Given the description of an element on the screen output the (x, y) to click on. 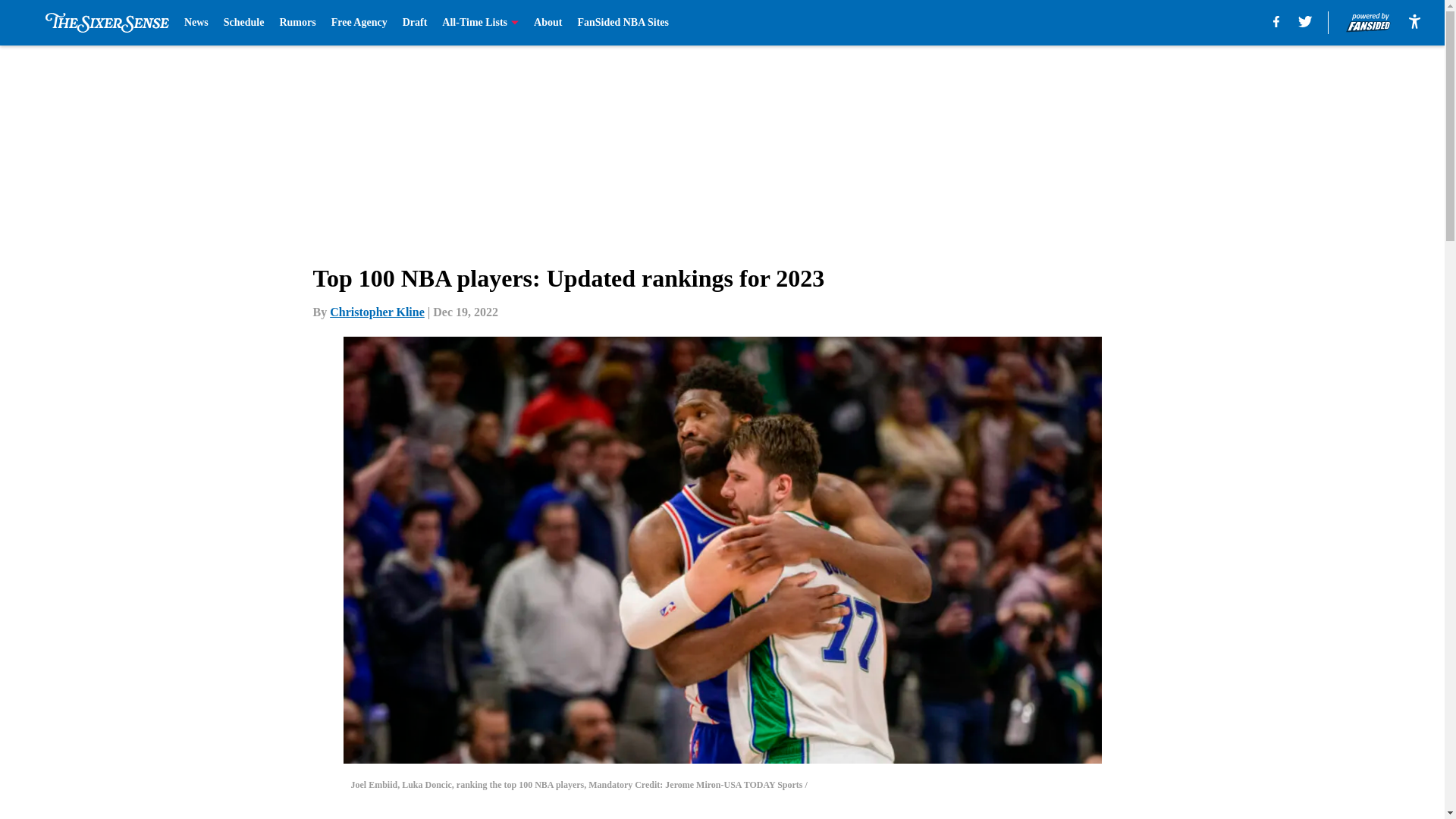
About (548, 22)
Free Agency (359, 22)
Draft (415, 22)
Christopher Kline (377, 311)
All-Time Lists (480, 22)
Schedule (244, 22)
News (196, 22)
FanSided NBA Sites (622, 22)
Rumors (297, 22)
